Given the description of an element on the screen output the (x, y) to click on. 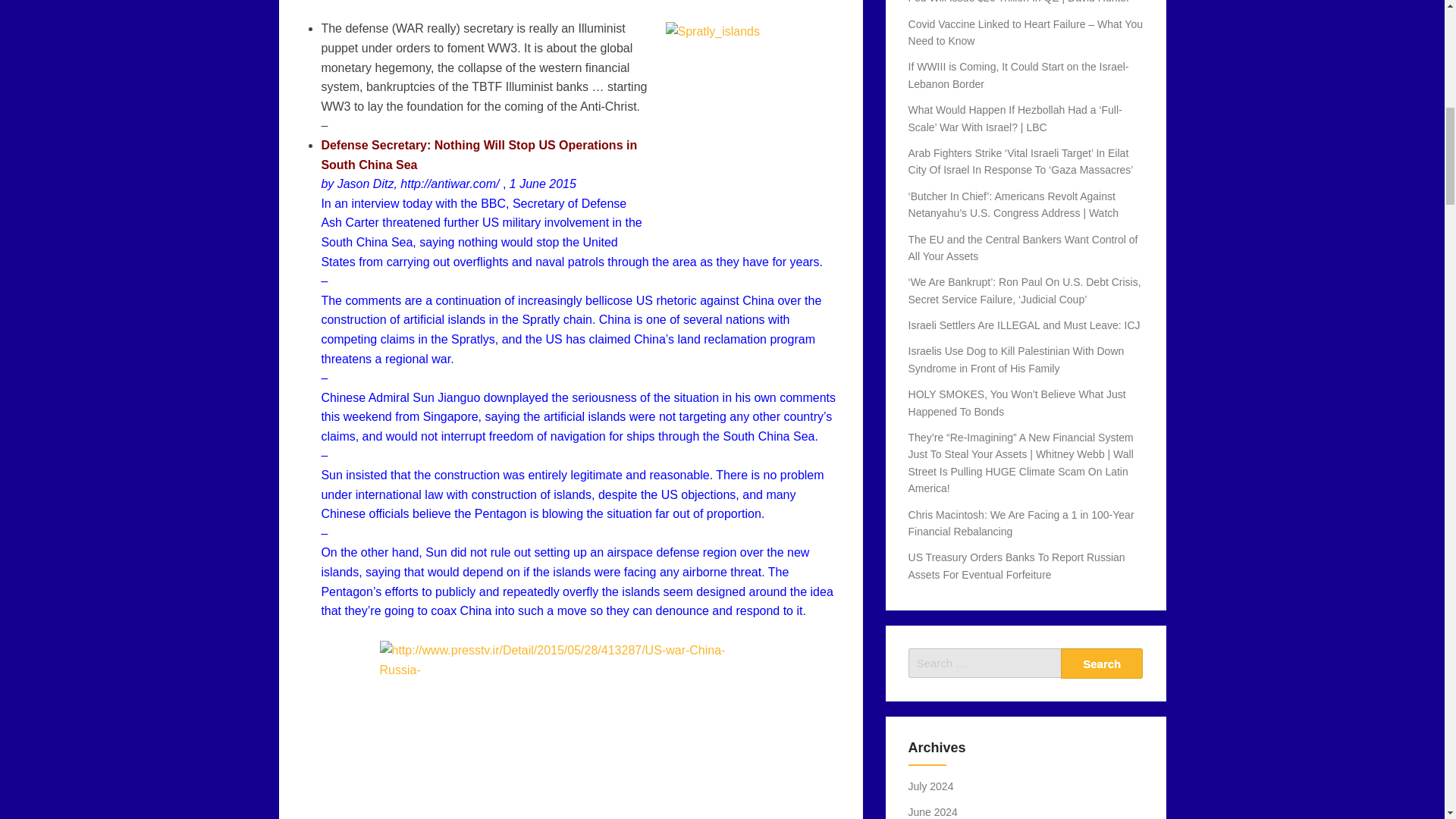
downplayed (517, 397)
Israeli Settlers Are ILLEGAL and Must Leave: ICJ (1024, 325)
Search (1101, 663)
July 2024 (930, 786)
Search (1101, 663)
June 2024 (933, 811)
nothing would stop the United States (468, 251)
Search (1101, 663)
